Given the description of an element on the screen output the (x, y) to click on. 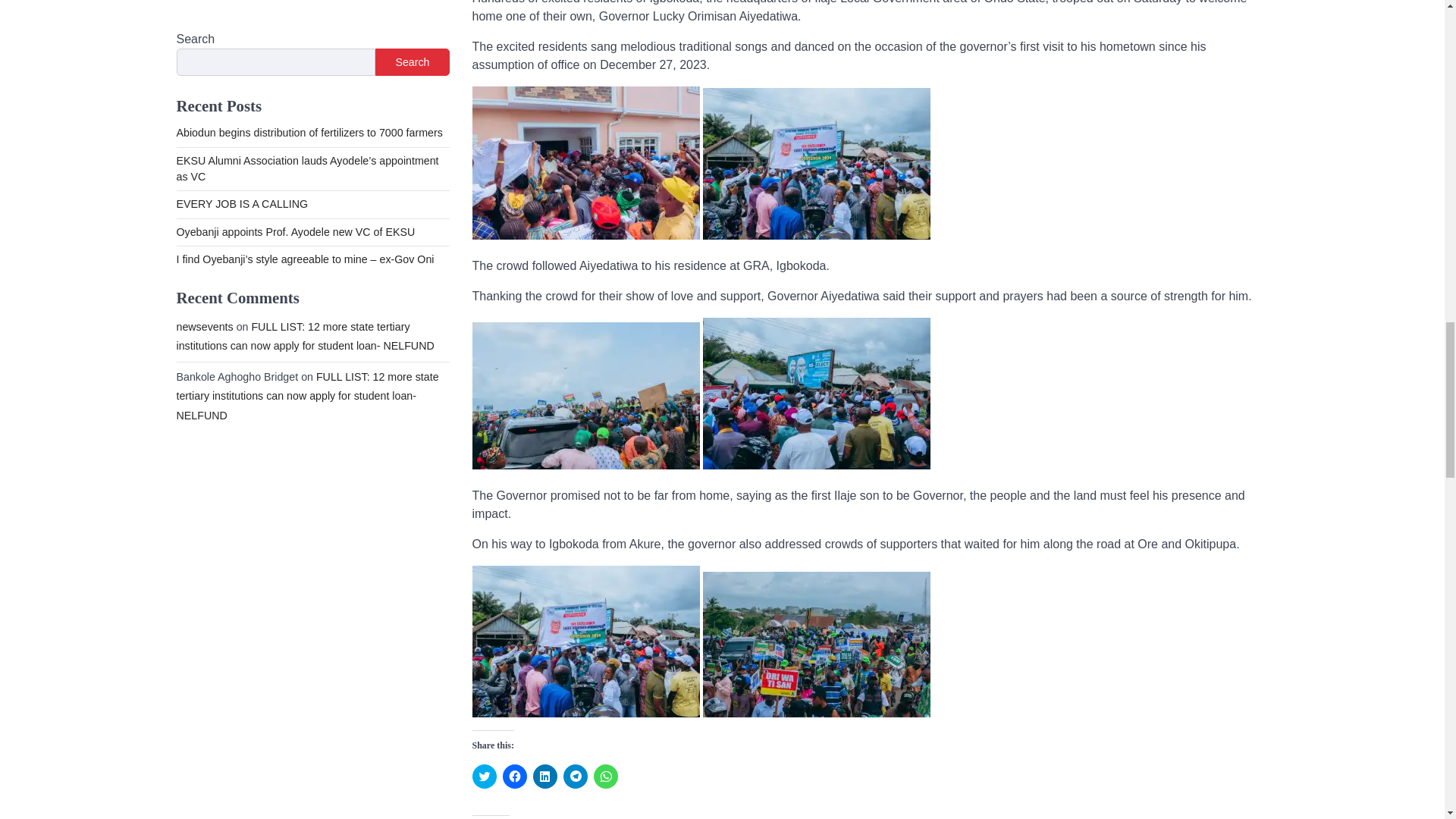
Click to share on Telegram (574, 776)
Click to share on Facebook (513, 776)
Click to share on Twitter (483, 776)
Click to share on WhatsApp (604, 776)
Click to share on LinkedIn (544, 776)
